Given the description of an element on the screen output the (x, y) to click on. 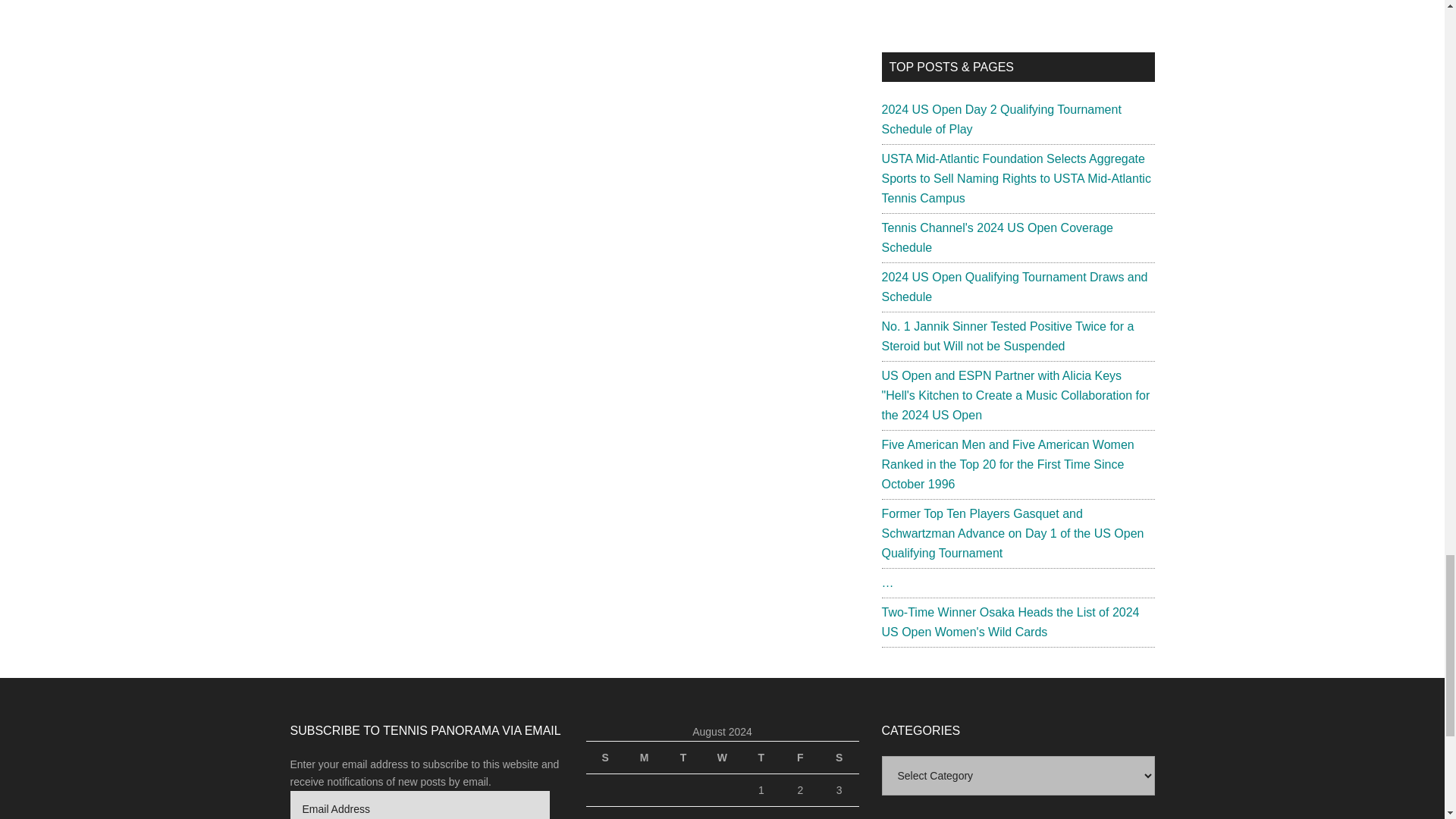
Monday (643, 757)
Saturday (839, 757)
Friday (799, 757)
Thursday (760, 757)
Tuesday (682, 757)
Sunday (604, 757)
Wednesday (722, 757)
